Given the description of an element on the screen output the (x, y) to click on. 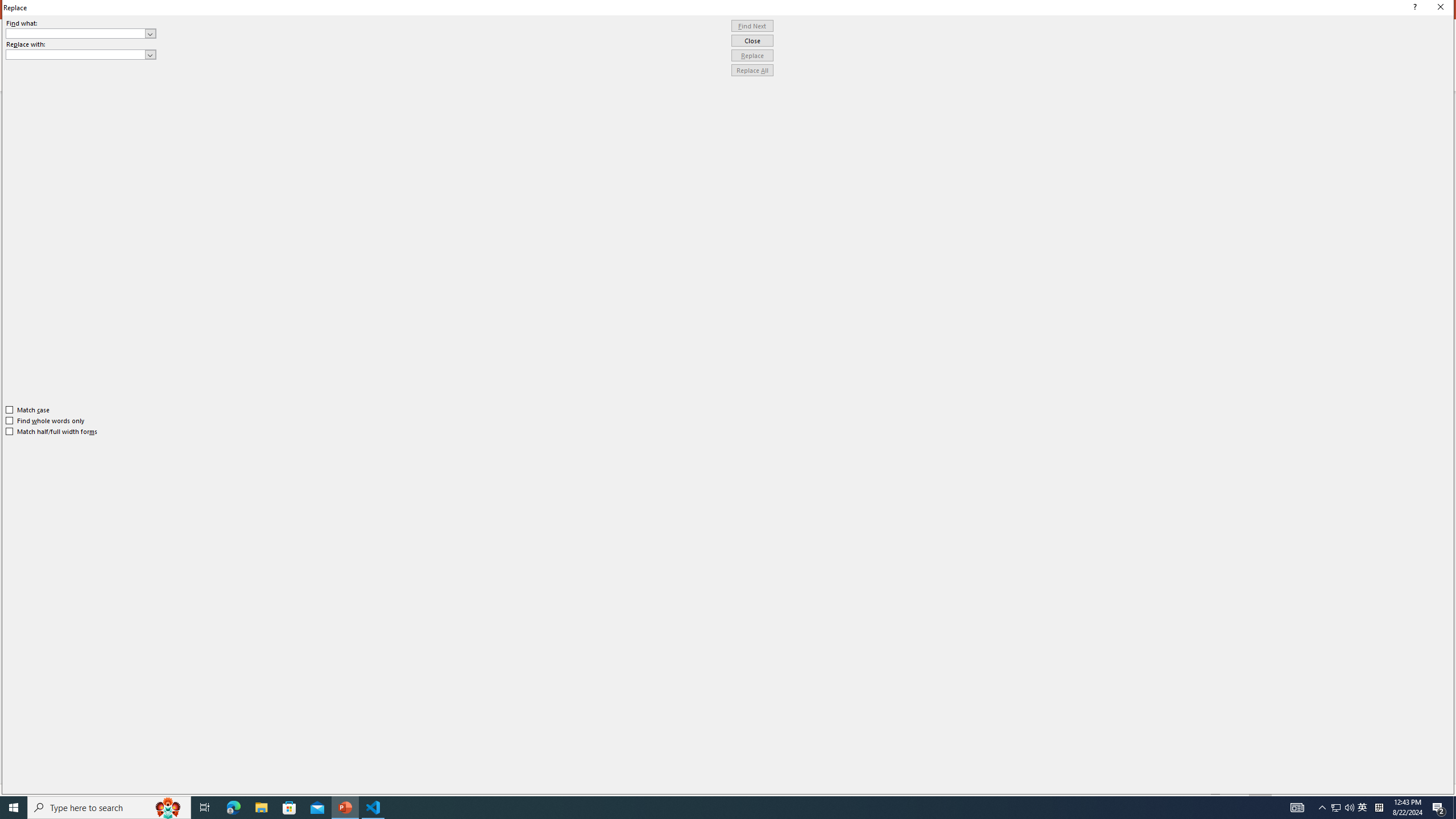
Replace with (80, 54)
Replace (752, 55)
Replace All (752, 69)
Replace with (75, 53)
Find Next (752, 25)
Context help (1413, 8)
Find what (80, 33)
Find what (75, 33)
Find whole words only (45, 420)
Match case (27, 409)
Match half/full width forms (52, 431)
